Given the description of an element on the screen output the (x, y) to click on. 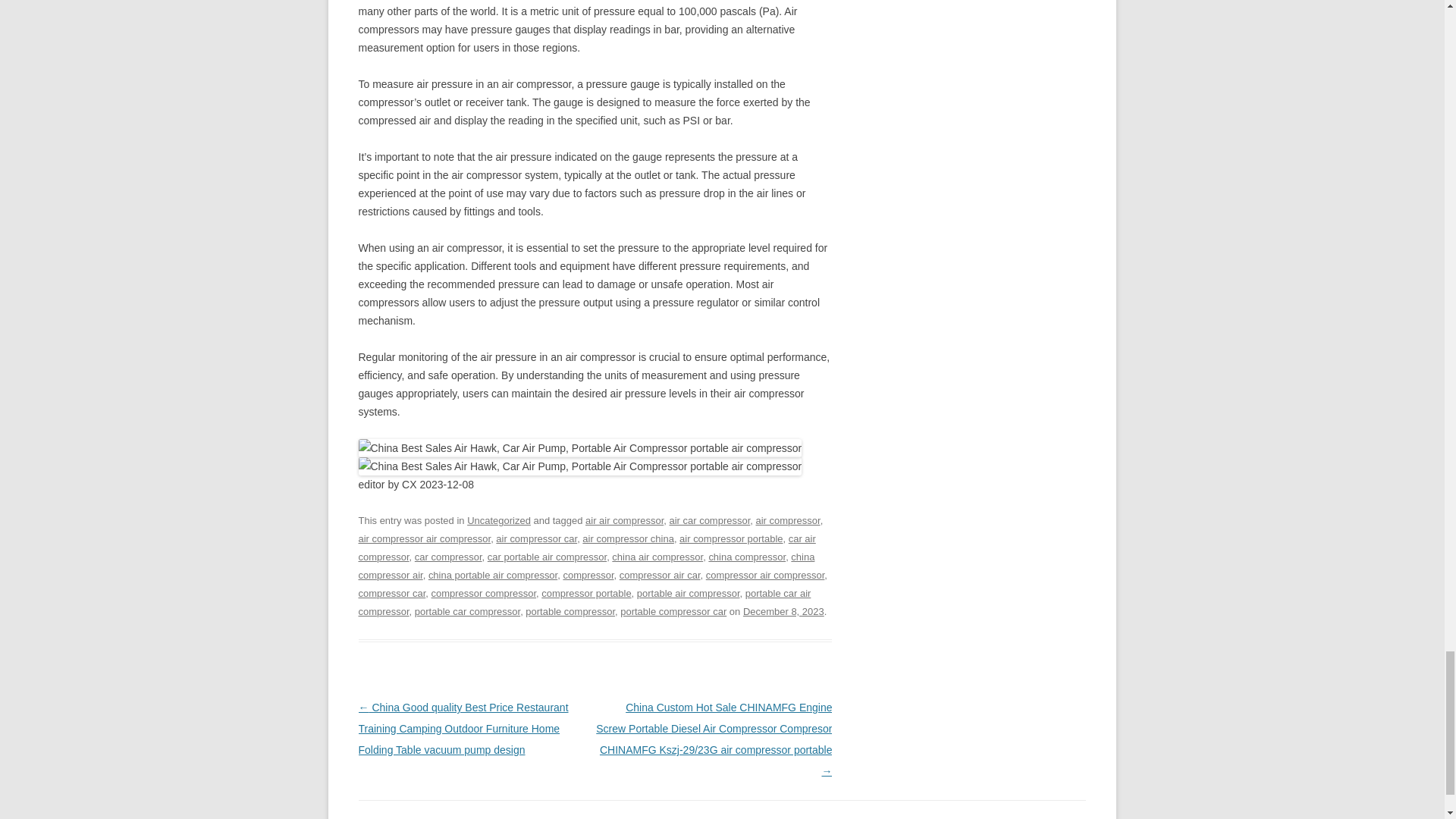
air compressor portable (731, 538)
compressor car (391, 593)
air compressor china (628, 538)
air car compressor (708, 520)
air compressor car (536, 538)
compressor portable (585, 593)
china portable air compressor (492, 574)
air air compressor (624, 520)
portable car compressor (466, 611)
car air compressor (586, 547)
car compressor (447, 556)
December 8, 2023 (783, 611)
compressor compressor (482, 593)
car portable air compressor (547, 556)
4:12 am (783, 611)
